Given the description of an element on the screen output the (x, y) to click on. 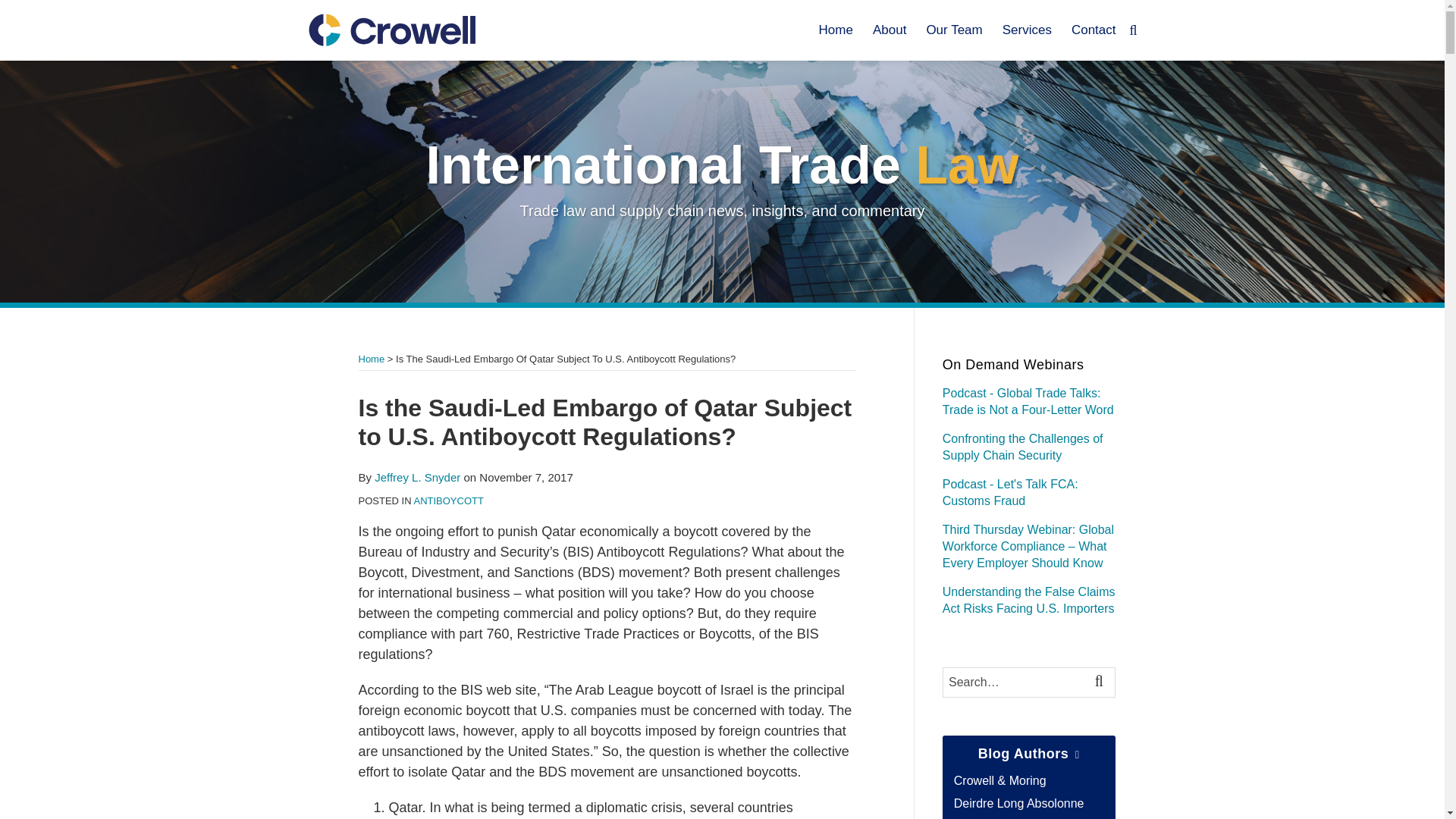
ANTIBOYCOTT (448, 500)
Home (835, 30)
Deirdre Long Absolonne (1018, 802)
Services (1027, 30)
Jeffrey L. Snyder (417, 477)
Confronting the Challenges of Supply Chain Security (1022, 446)
International Trade Law (722, 164)
Home (371, 358)
